Given the description of an element on the screen output the (x, y) to click on. 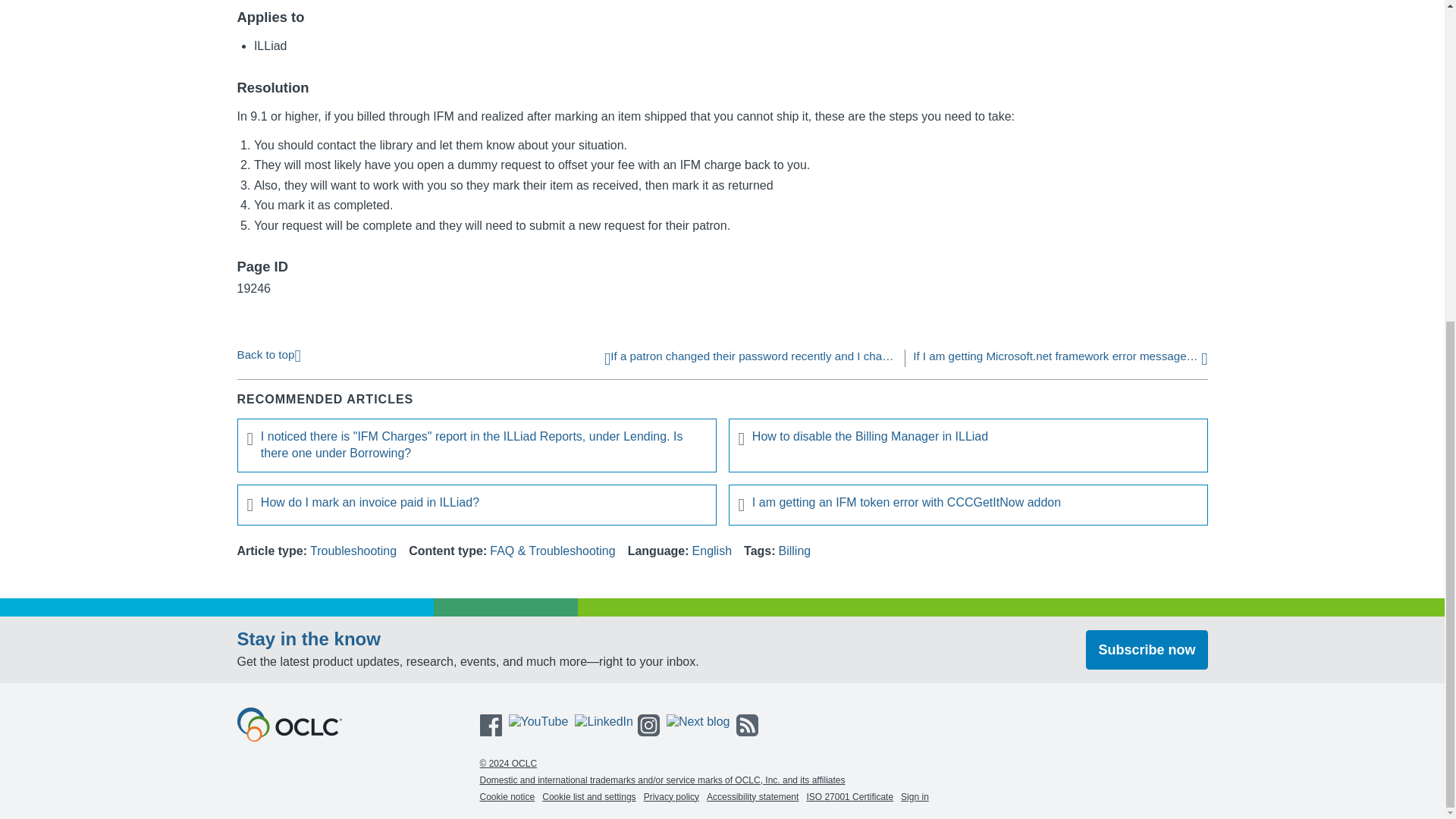
Jump back to top of this article (267, 353)
Back to top (267, 353)
